Given the description of an element on the screen output the (x, y) to click on. 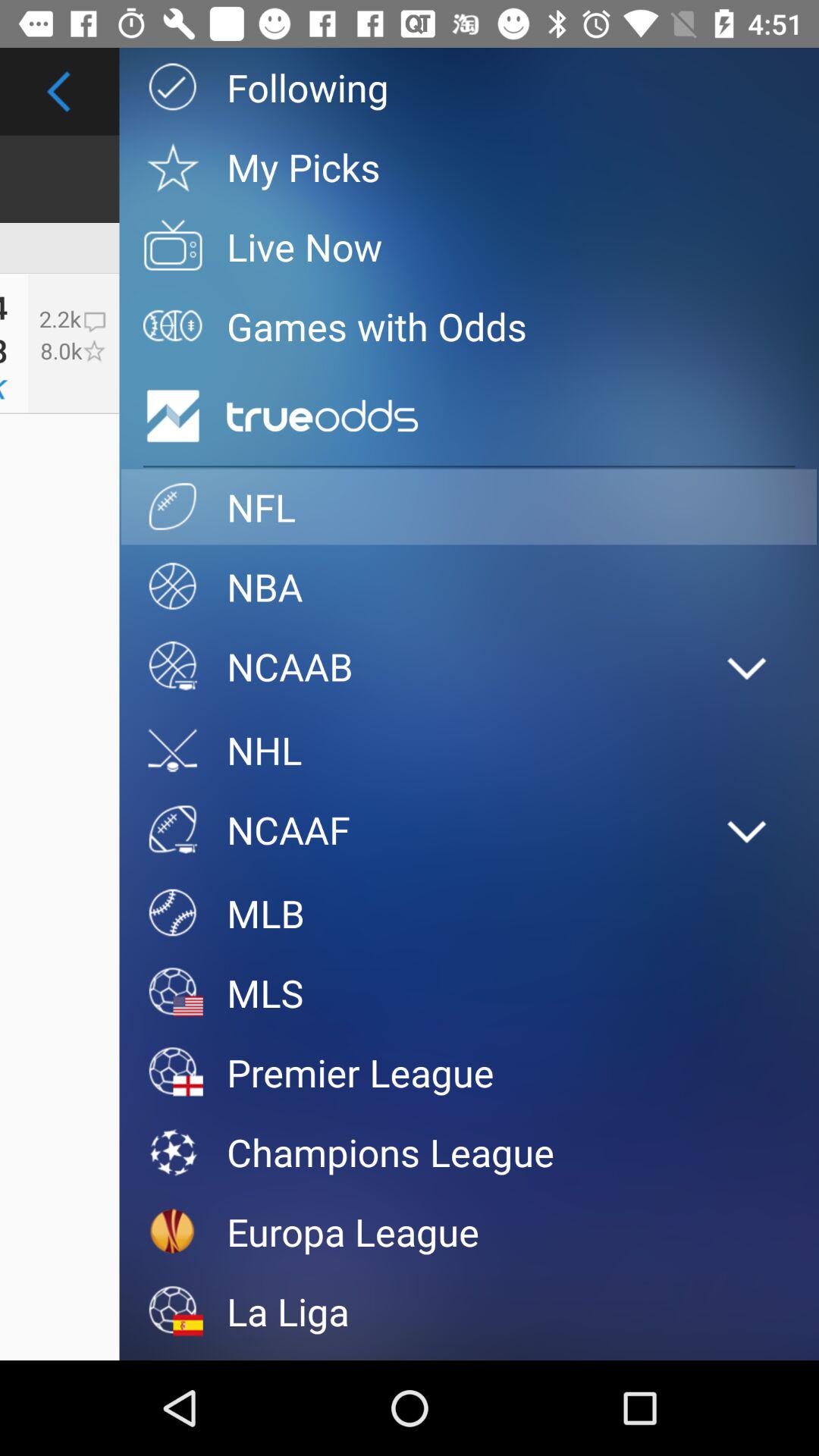
press the icon below the champions league icon (469, 1231)
